Given the description of an element on the screen output the (x, y) to click on. 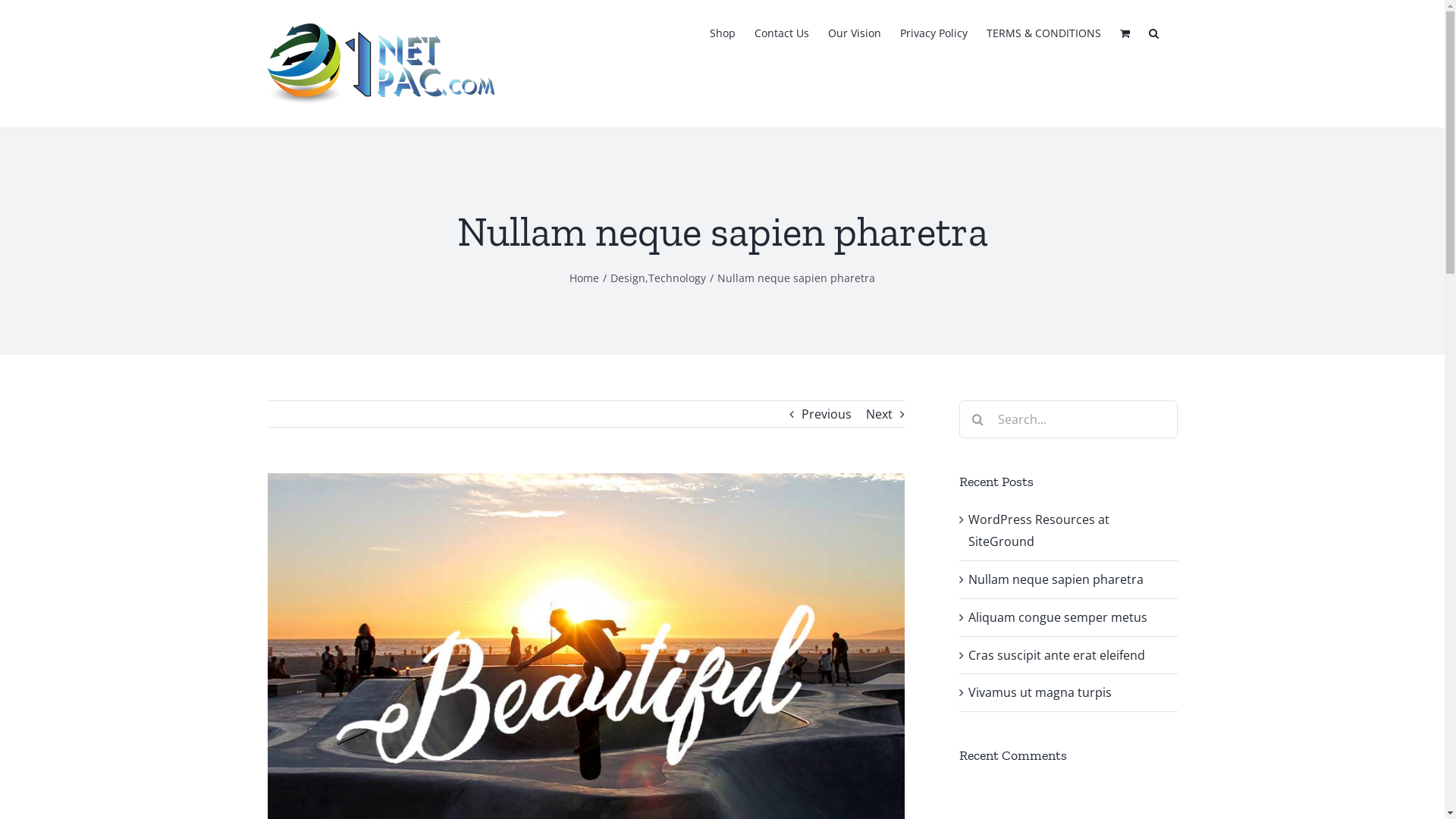
Vivamus ut magna turpis Element type: text (1038, 692)
WordPress Resources at SiteGround Element type: text (1037, 530)
Next Element type: text (879, 413)
Home Element type: text (584, 277)
Nullam neque sapien pharetra Element type: text (1054, 579)
Previous Element type: text (825, 413)
Aliquam congue semper metus Element type: text (1056, 616)
Search Element type: hover (1152, 31)
Contact Us Element type: text (780, 31)
Technology Element type: text (677, 277)
Shop Element type: text (722, 31)
Cras suscipit ante erat eleifend Element type: text (1055, 654)
Privacy Policy Element type: text (932, 31)
Design Element type: text (627, 277)
Our Vision Element type: text (854, 31)
TERMS & CONDITIONS Element type: text (1042, 31)
